Given the description of an element on the screen output the (x, y) to click on. 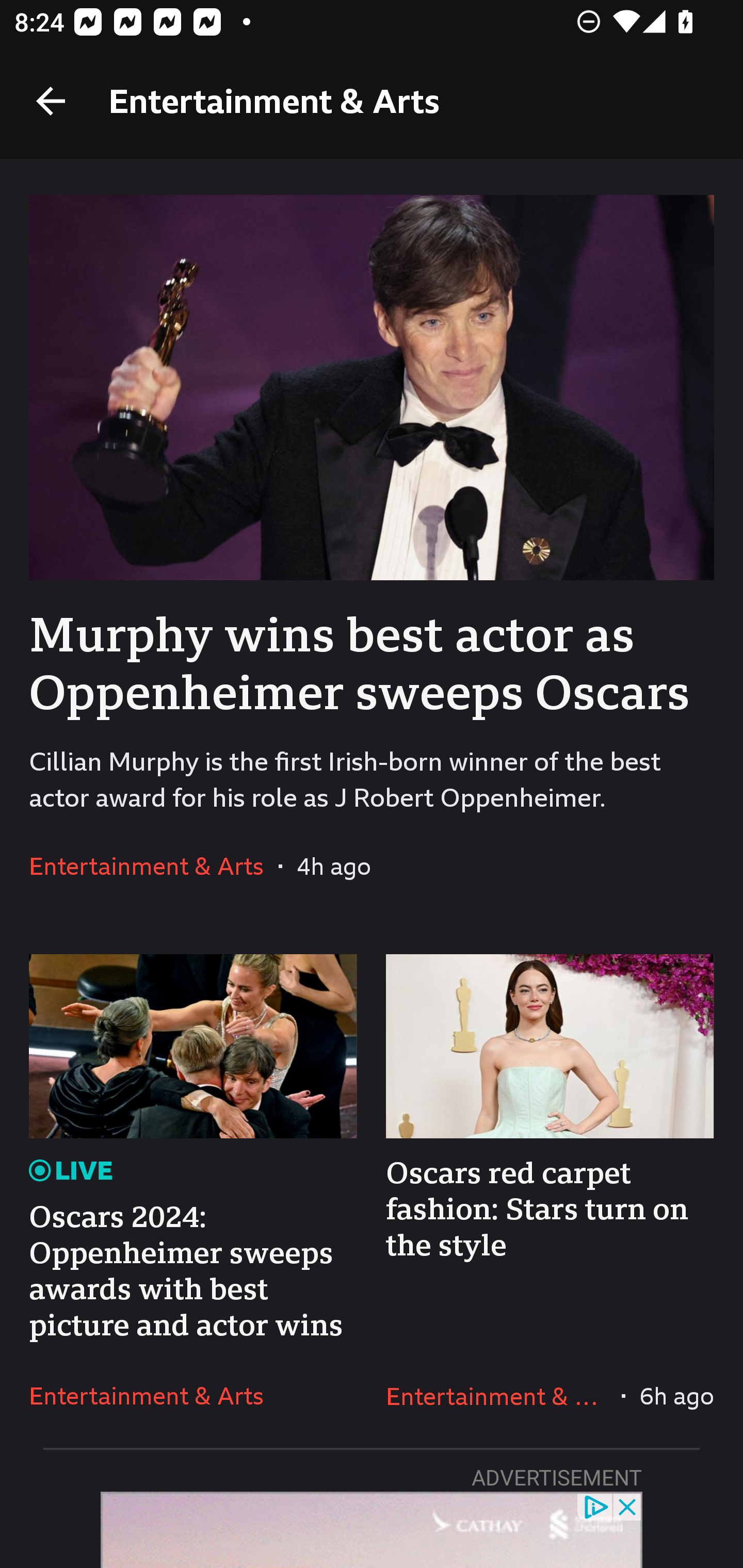
Back (50, 101)
privacy_small (595, 1505)
close_button (627, 1505)
